Given the description of an element on the screen output the (x, y) to click on. 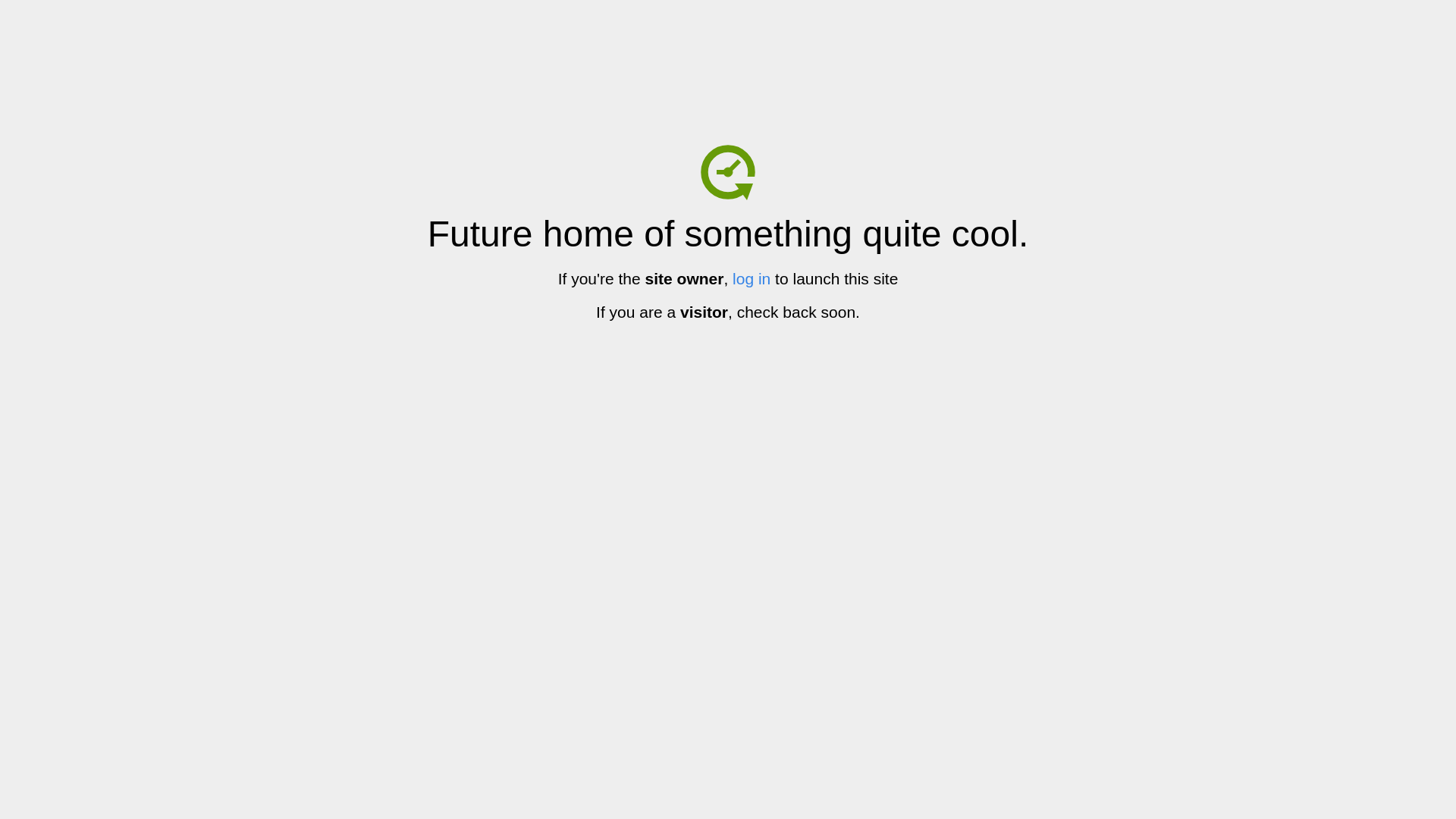
log in Element type: text (751, 278)
